Given the description of an element on the screen output the (x, y) to click on. 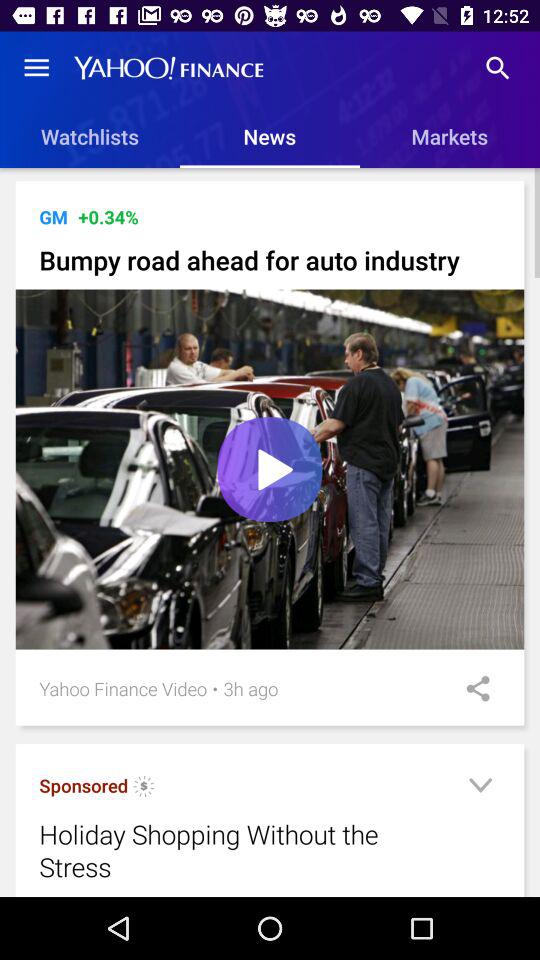
additional information (480, 788)
